Given the description of an element on the screen output the (x, y) to click on. 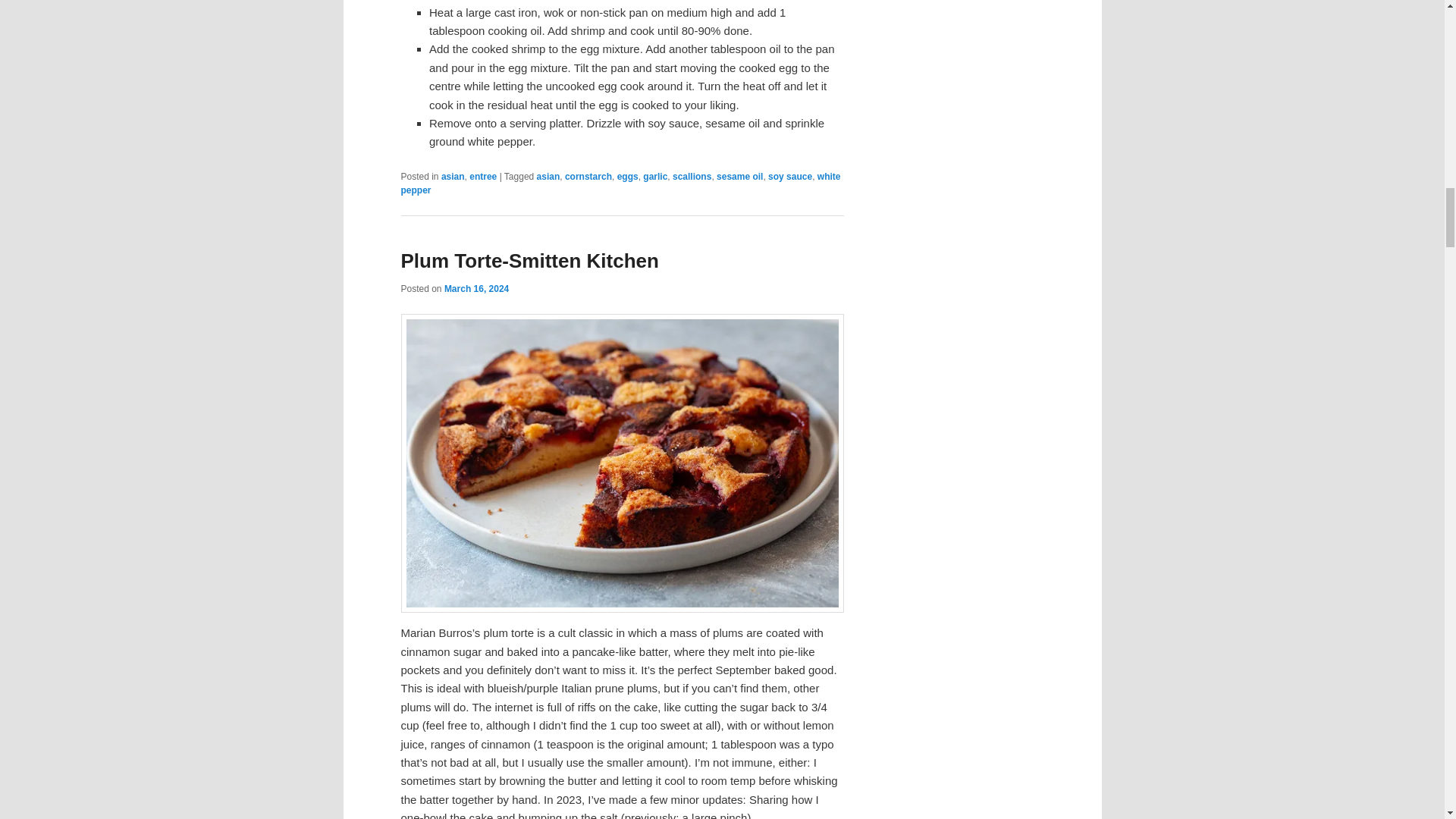
entree (482, 176)
asian (452, 176)
12:11 pm (476, 288)
cornstarch (587, 176)
asian (548, 176)
